Given the description of an element on the screen output the (x, y) to click on. 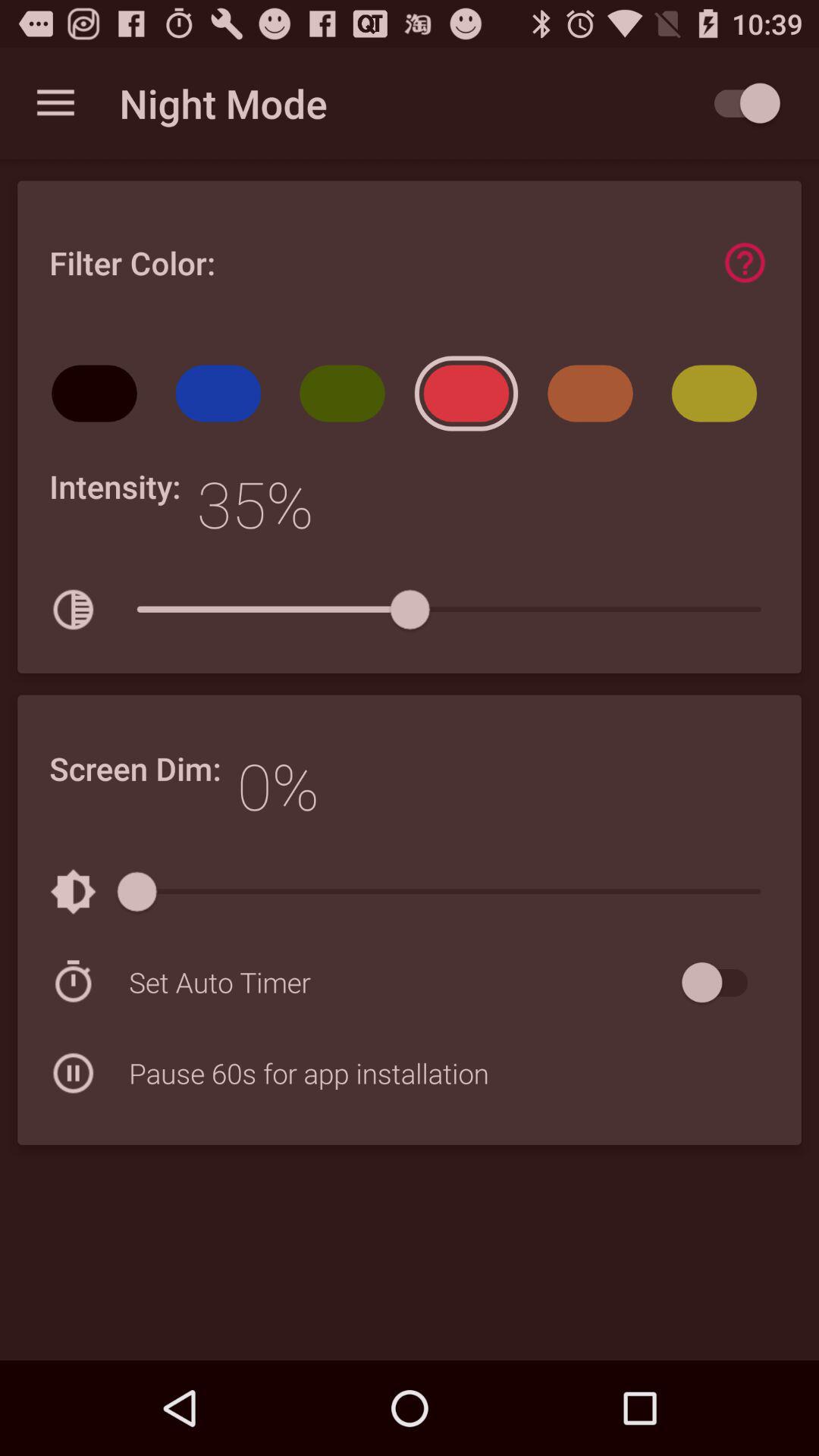
select item next to the set auto timer icon (722, 982)
